Given the description of an element on the screen output the (x, y) to click on. 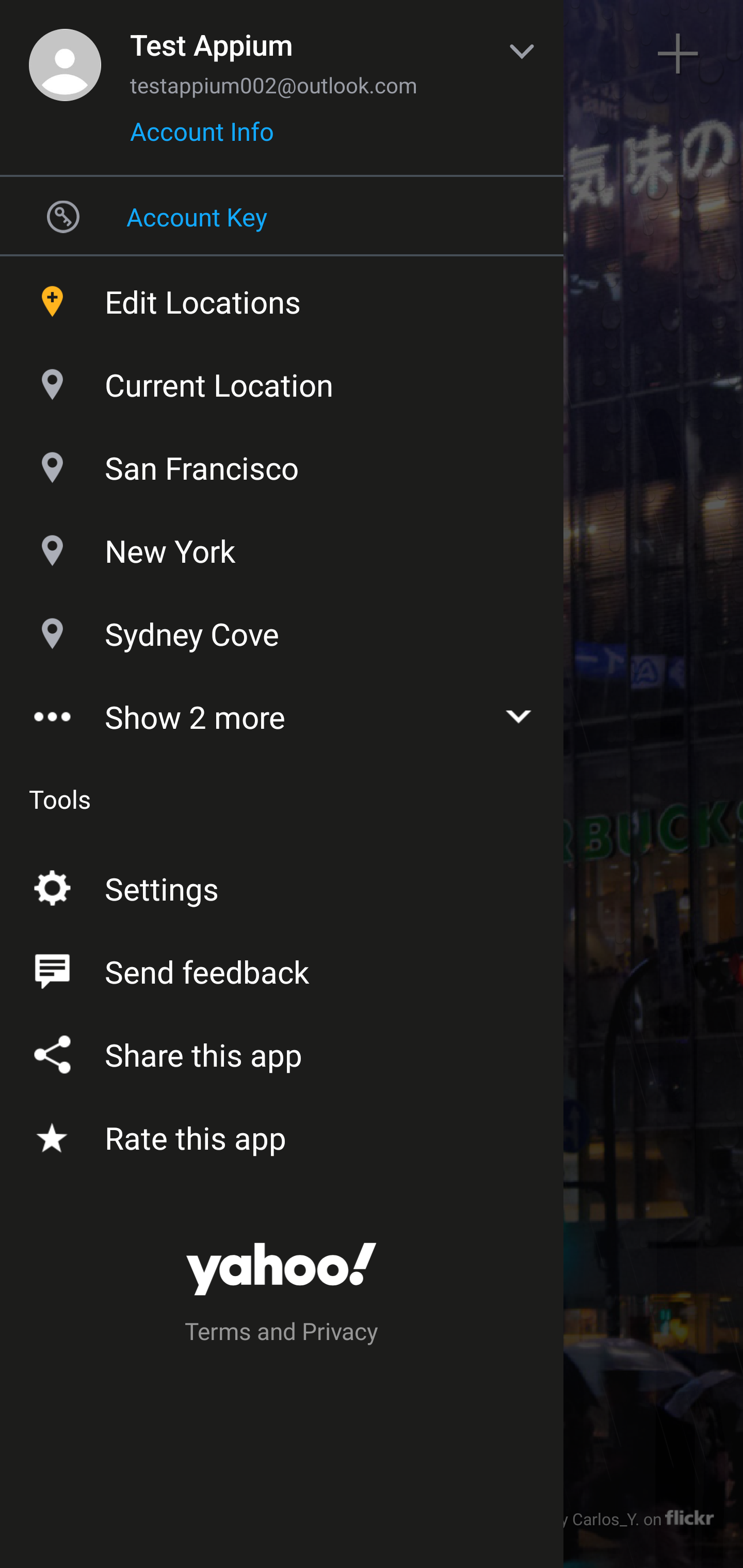
Sidebar (64, 54)
Account Info (202, 137)
Account Key (281, 216)
Edit Locations (281, 296)
Current Location (281, 379)
San Francisco (281, 462)
New York (281, 546)
Sydney Cove (281, 629)
Settings (281, 884)
Send feedback (281, 967)
Share this app (281, 1050)
Terms and Privacy Terms and privacy button (281, 1334)
